Given the description of an element on the screen output the (x, y) to click on. 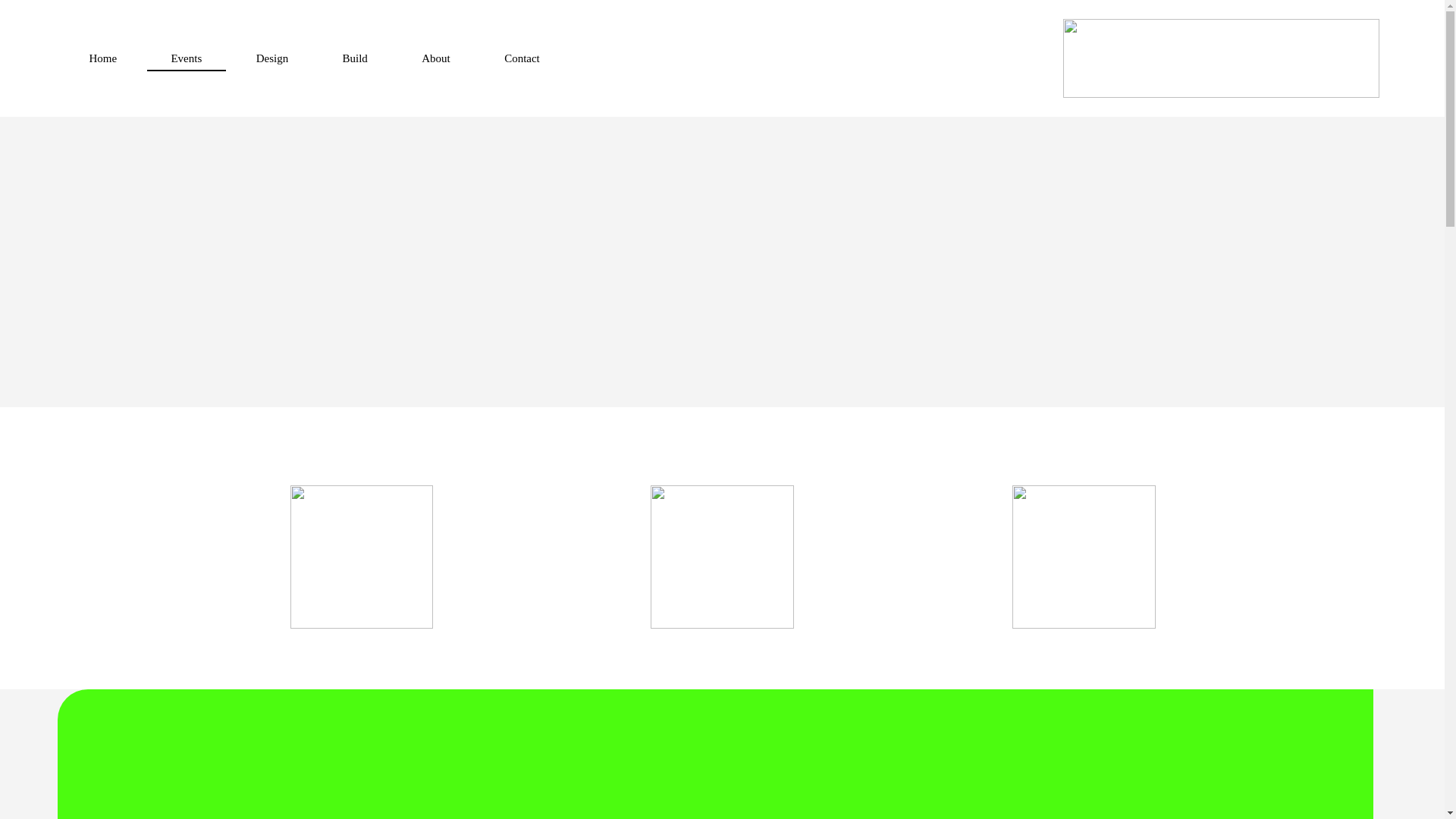
Contact (521, 57)
Home (103, 57)
Design (272, 57)
Events (186, 57)
About (435, 57)
Build (354, 57)
